Given the description of an element on the screen output the (x, y) to click on. 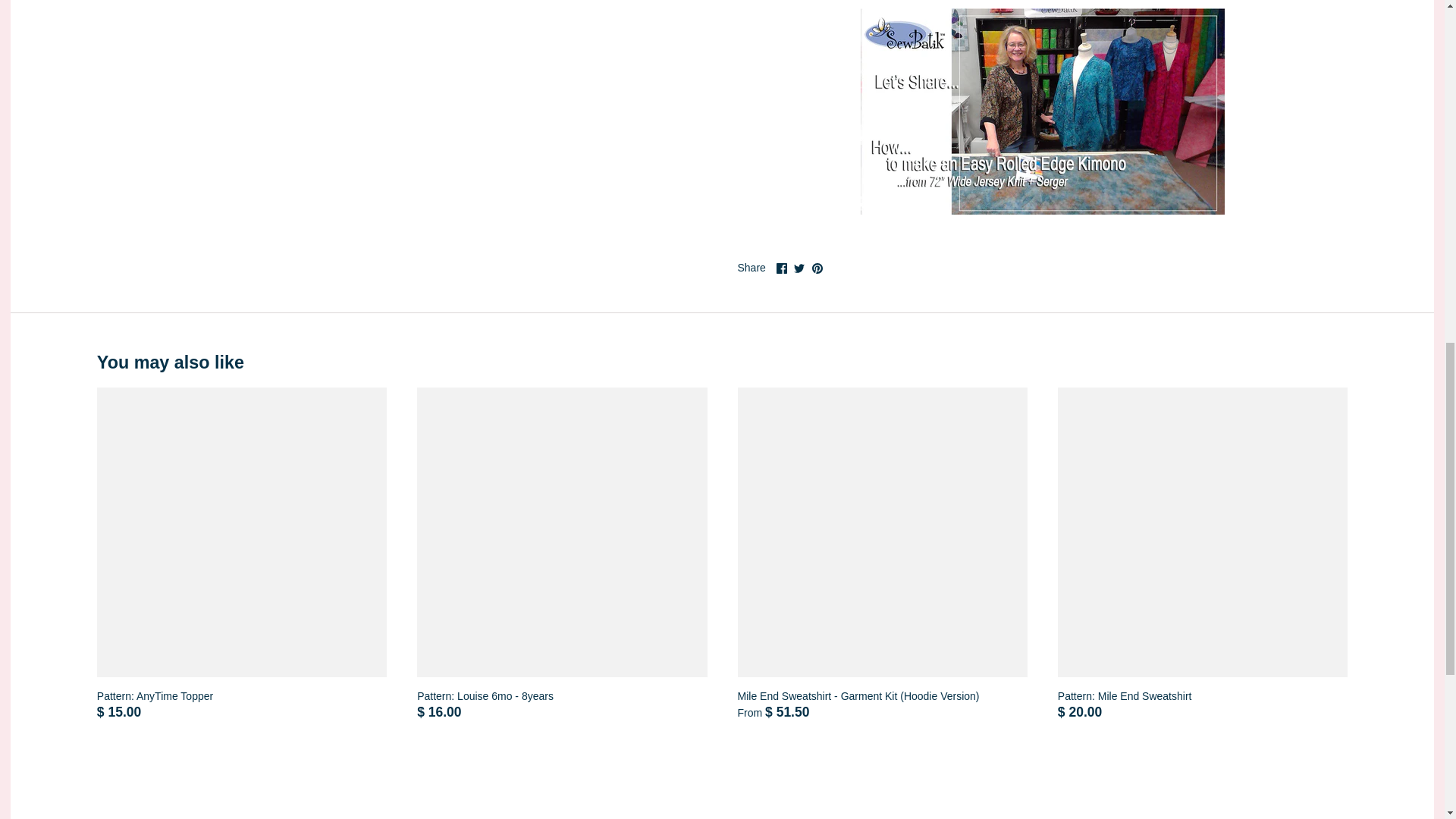
Twitter (799, 267)
Pinterest (816, 267)
Facebook (781, 267)
